Given the description of an element on the screen output the (x, y) to click on. 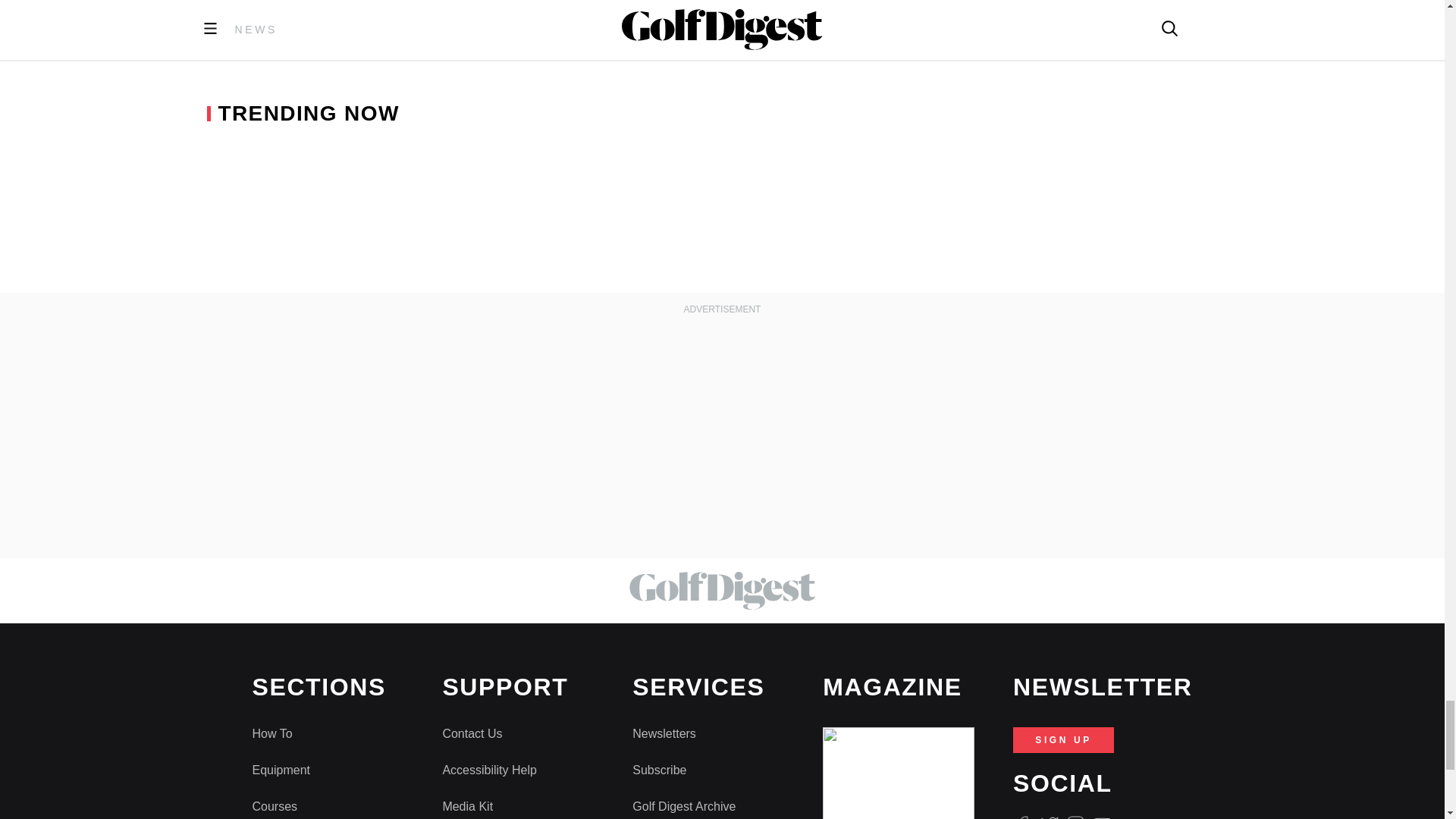
Facebook Logo (1022, 816)
Instagram Logo (1074, 816)
Youtube Icon (1102, 816)
Twitter Logo (1048, 816)
